Given the description of an element on the screen output the (x, y) to click on. 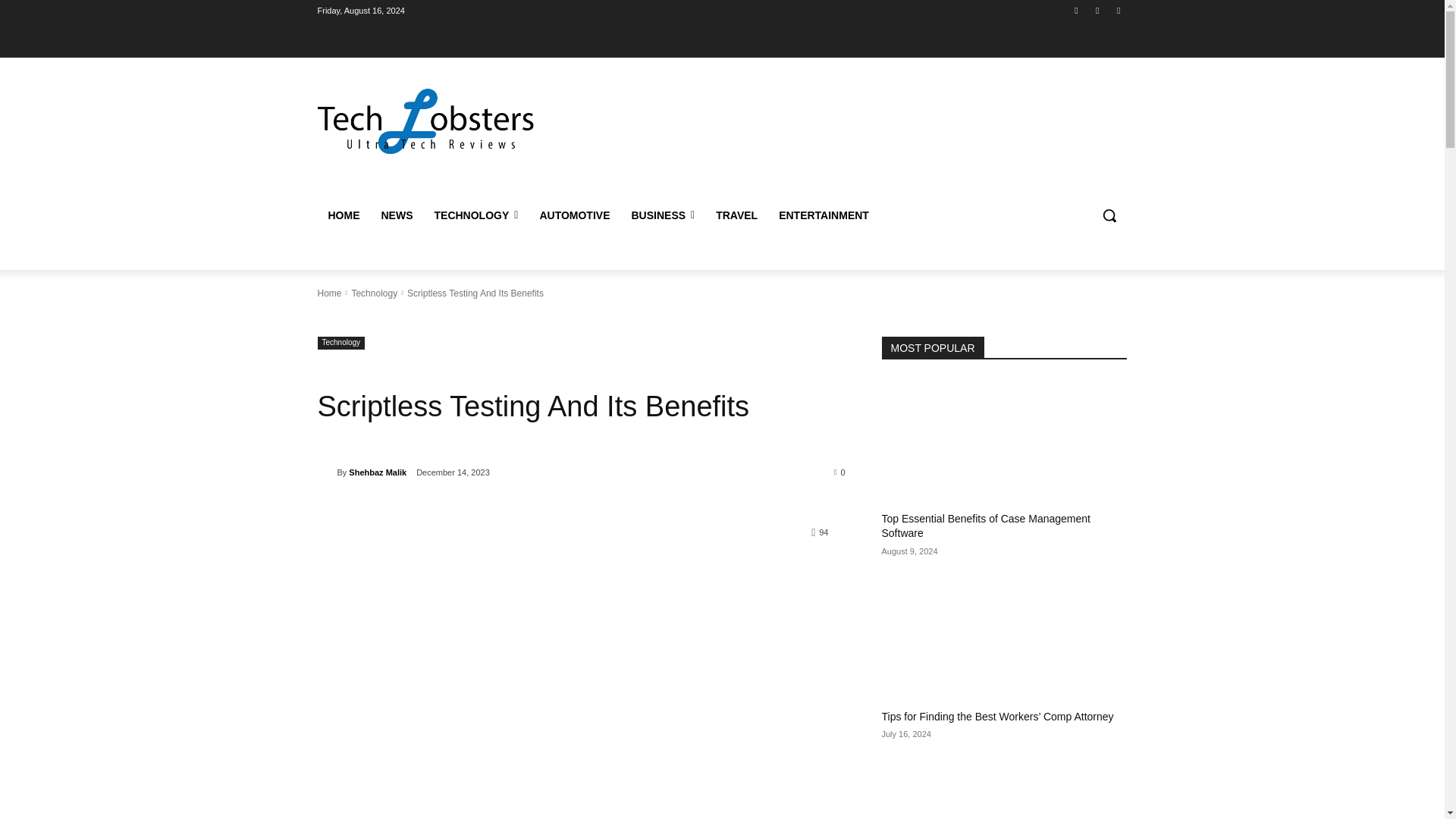
TECHNOLOGY (475, 215)
HOME (343, 215)
BUSINESS (662, 215)
View all posts in Technology (373, 293)
Home (328, 293)
AUTOMOTIVE (574, 215)
TRAVEL (736, 215)
Technology (373, 293)
Twitter (1097, 9)
ENTERTAINMENT (823, 215)
